Given the description of an element on the screen output the (x, y) to click on. 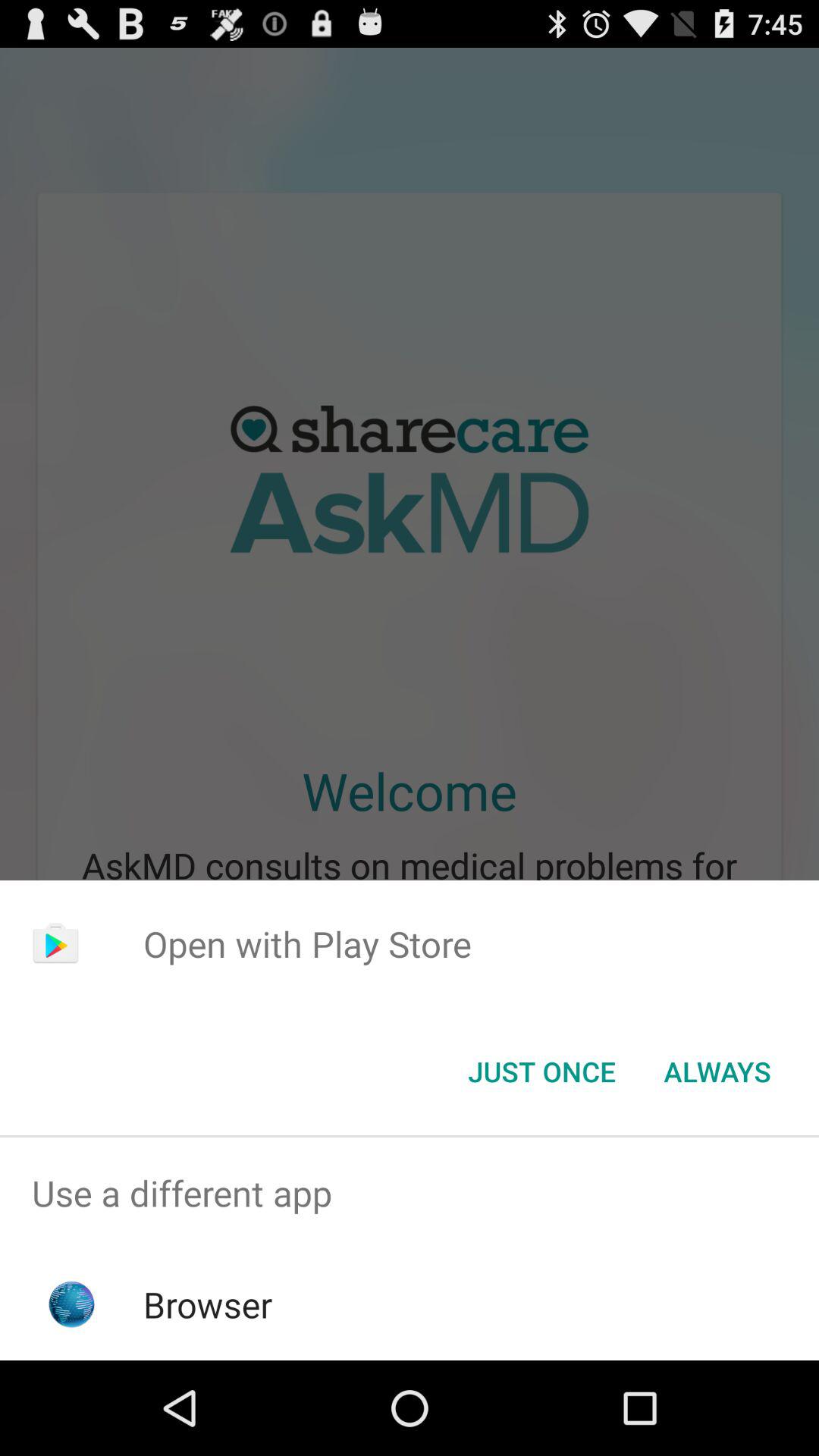
scroll to browser (207, 1304)
